Given the description of an element on the screen output the (x, y) to click on. 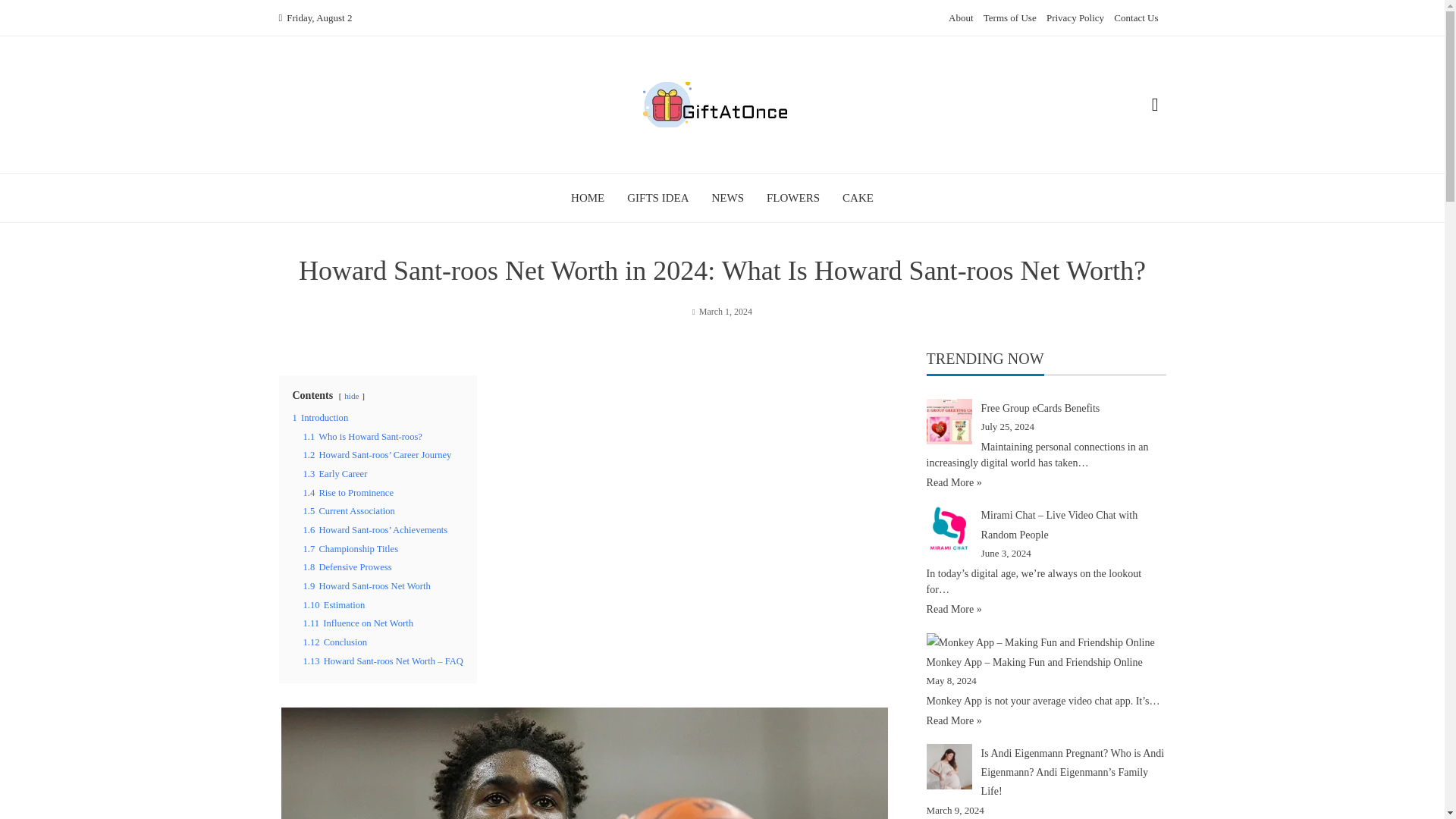
FLOWERS (793, 197)
HOME (587, 197)
1.11 Influence on Net Worth (357, 623)
1.1 Who is Howard Sant-roos? (362, 436)
1.5 Current Association (348, 511)
CAKE (858, 197)
1.9 Howard Sant-roos Net Worth (366, 585)
Privacy Policy (1074, 17)
About (961, 17)
1.10 Estimation (333, 604)
1.3 Early Career (335, 473)
Terms of Use (1010, 17)
Contact Us (1135, 17)
1 Introduction (320, 417)
Free Group eCards Benefits (1040, 408)
